Given the description of an element on the screen output the (x, y) to click on. 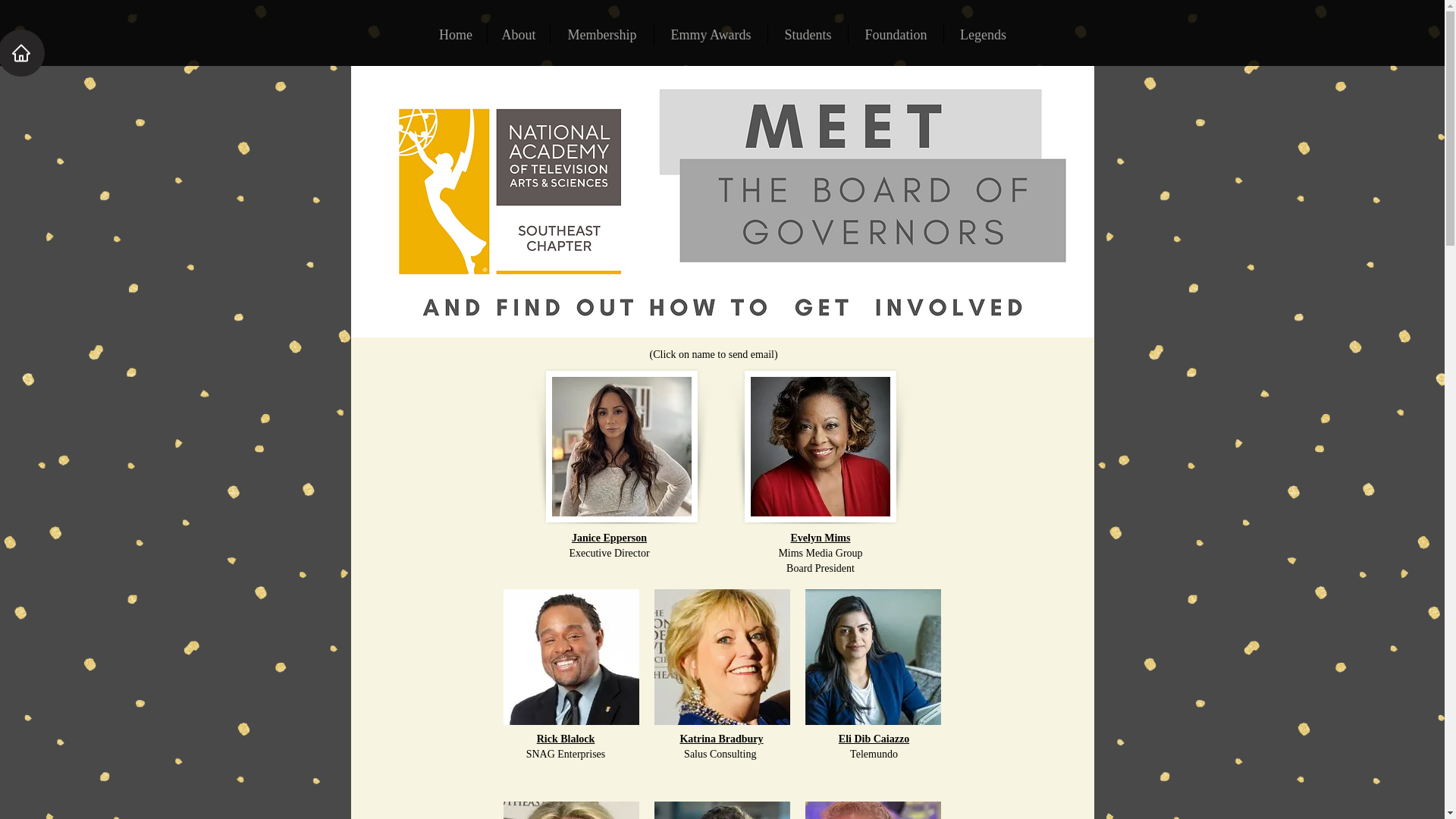
Katrina Bradbury (720, 738)
Salus Consulting  (721, 754)
Executive Director (609, 552)
Students (807, 35)
Home (455, 35)
Janice Epperson (609, 537)
Telemundo (874, 754)
Eli Dib Caiazzo (873, 738)
Evelyn Mims (820, 537)
Rick Blalock (566, 738)
About (518, 35)
Foundation (895, 35)
Legends (982, 35)
